Given the description of an element on the screen output the (x, y) to click on. 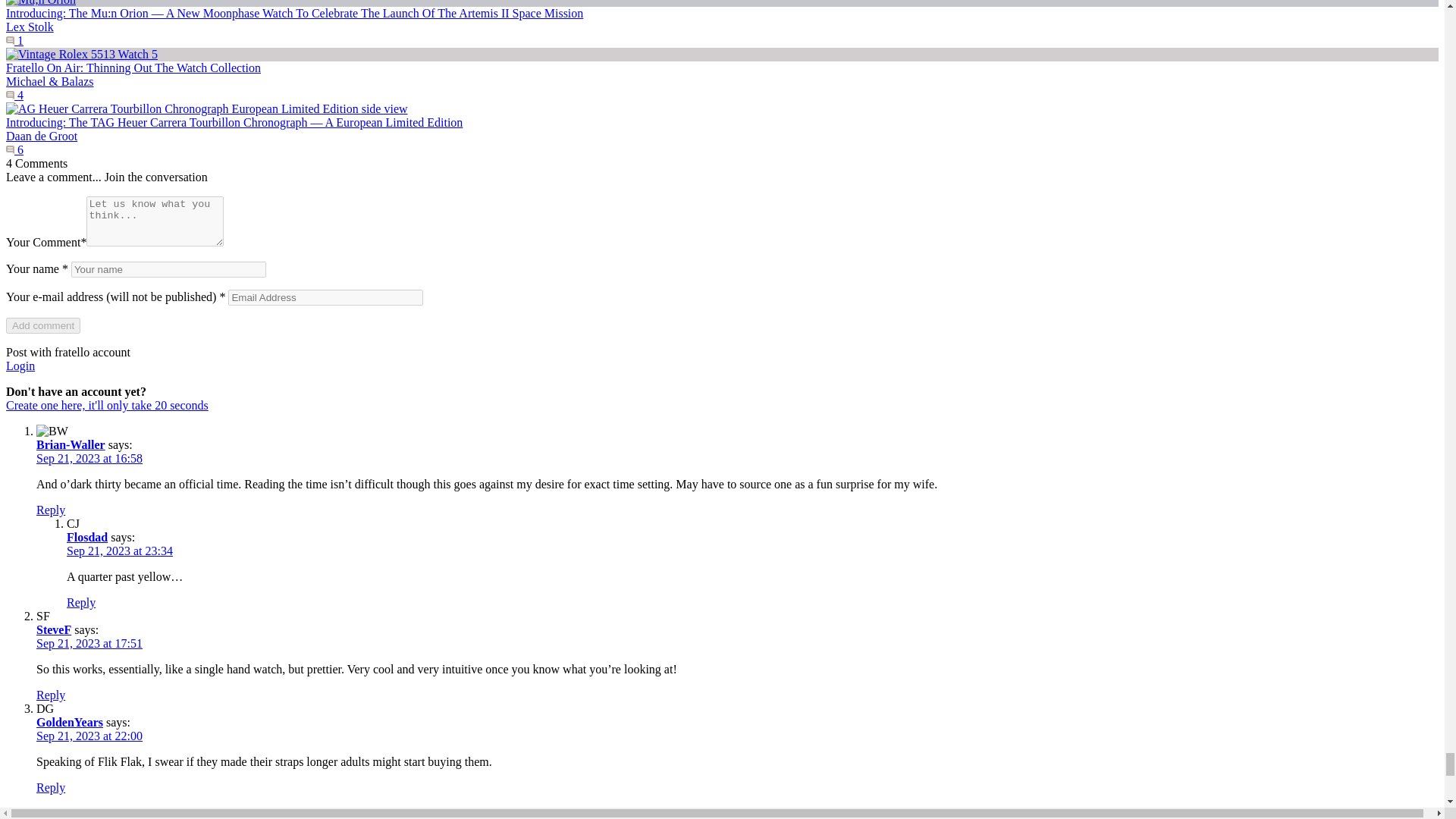
Add comment (42, 325)
